Given the description of an element on the screen output the (x, y) to click on. 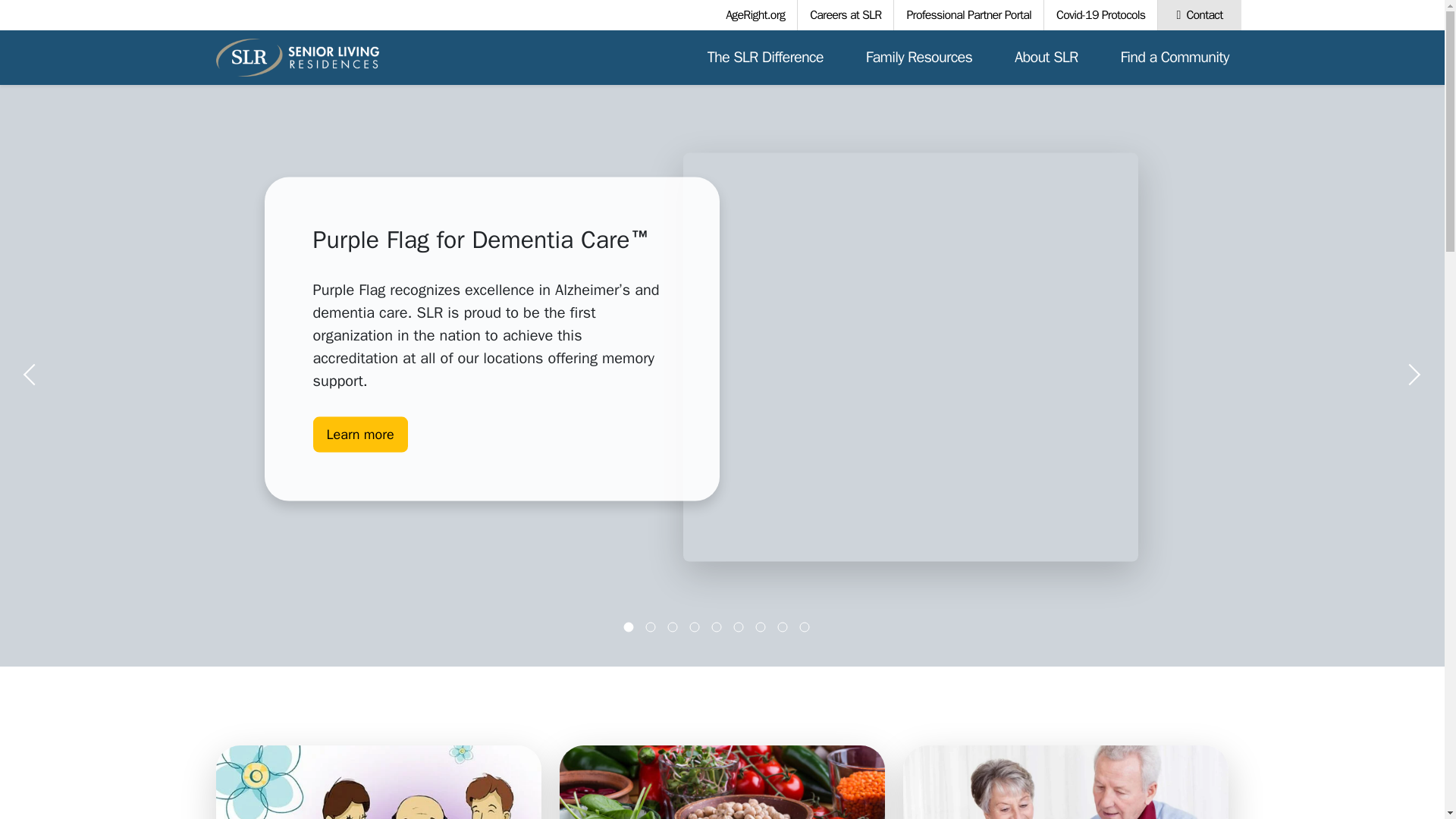
Family Resources (918, 57)
Professional Partner Portal (968, 15)
Covid-19 Protocols (1100, 15)
Senior Living Residences (296, 57)
Contact (1198, 15)
Careers at SLR (845, 15)
The SLR Difference (765, 57)
AgeRight.org (754, 15)
